Given the description of an element on the screen output the (x, y) to click on. 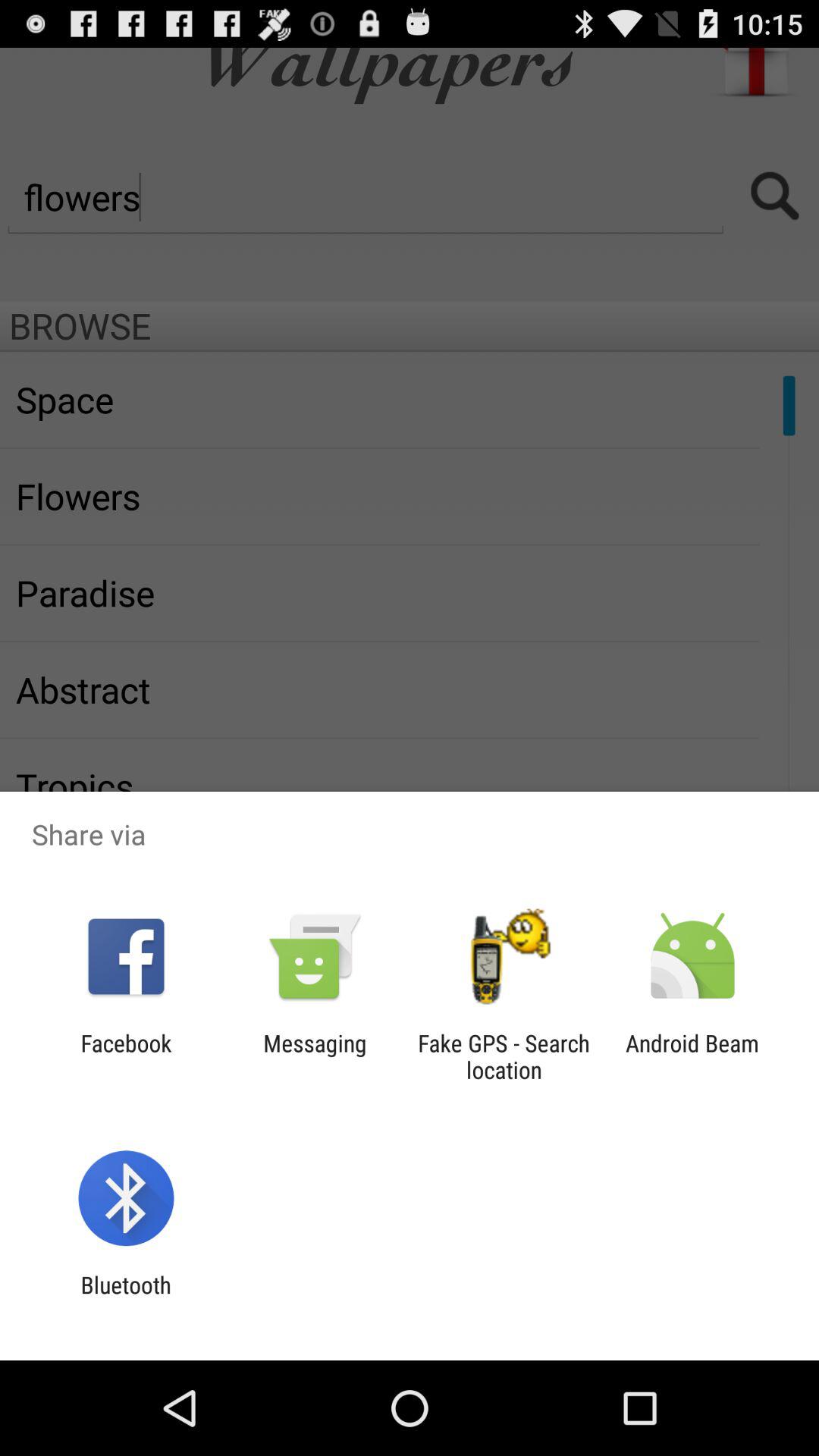
launch the item at the bottom right corner (692, 1056)
